Given the description of an element on the screen output the (x, y) to click on. 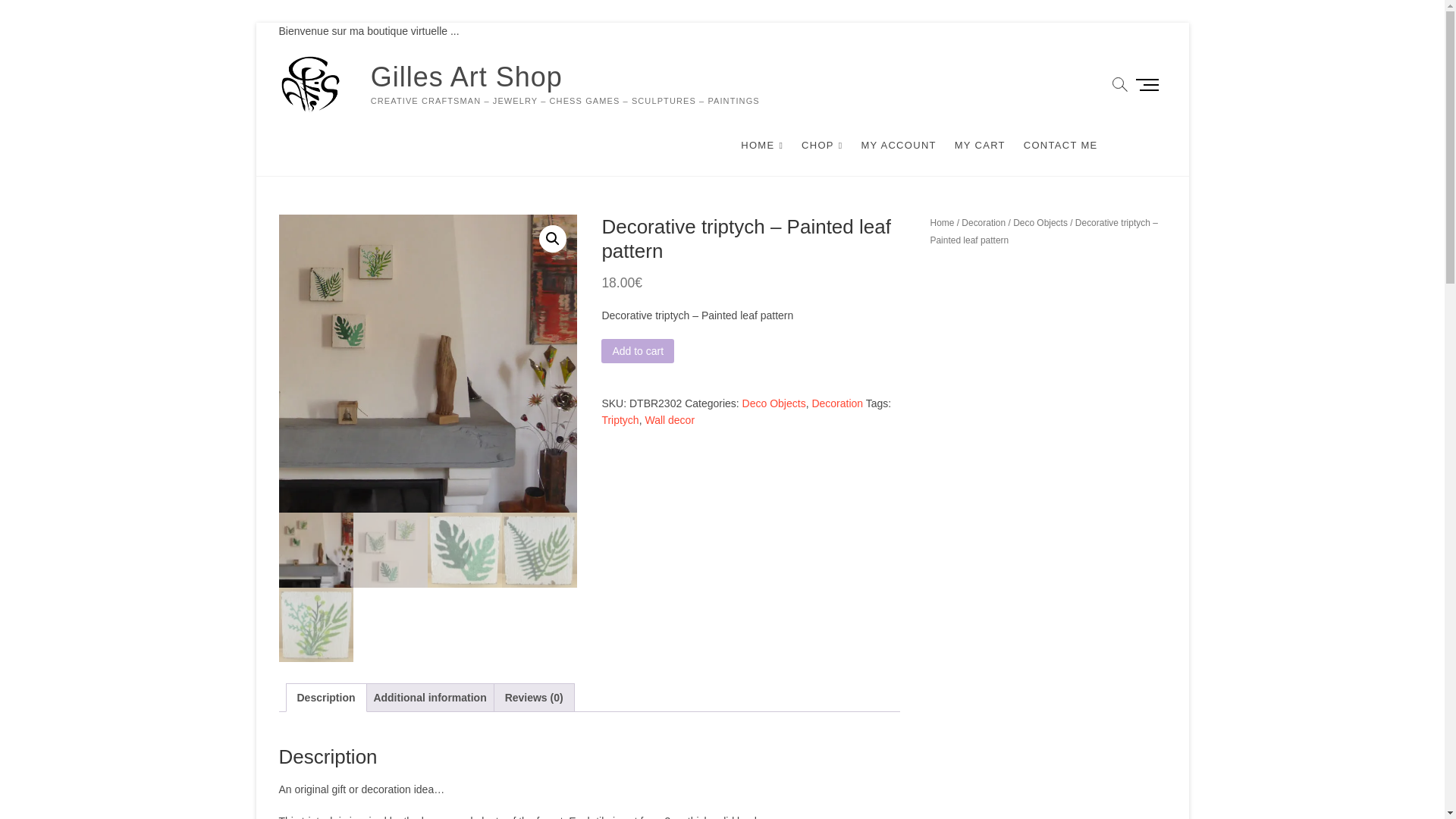
Gilles Art Shop (565, 77)
MY ACCOUNT (898, 145)
Triptyque mural - Motif feuilles peint (725, 363)
Gilles Art Shop (565, 77)
CONTACT ME (1060, 145)
Triptyque mural - Motif feuilles peint (427, 363)
Menu Button (1150, 83)
HOME (761, 145)
MY CART (980, 145)
CHOP (821, 145)
